Given the description of an element on the screen output the (x, y) to click on. 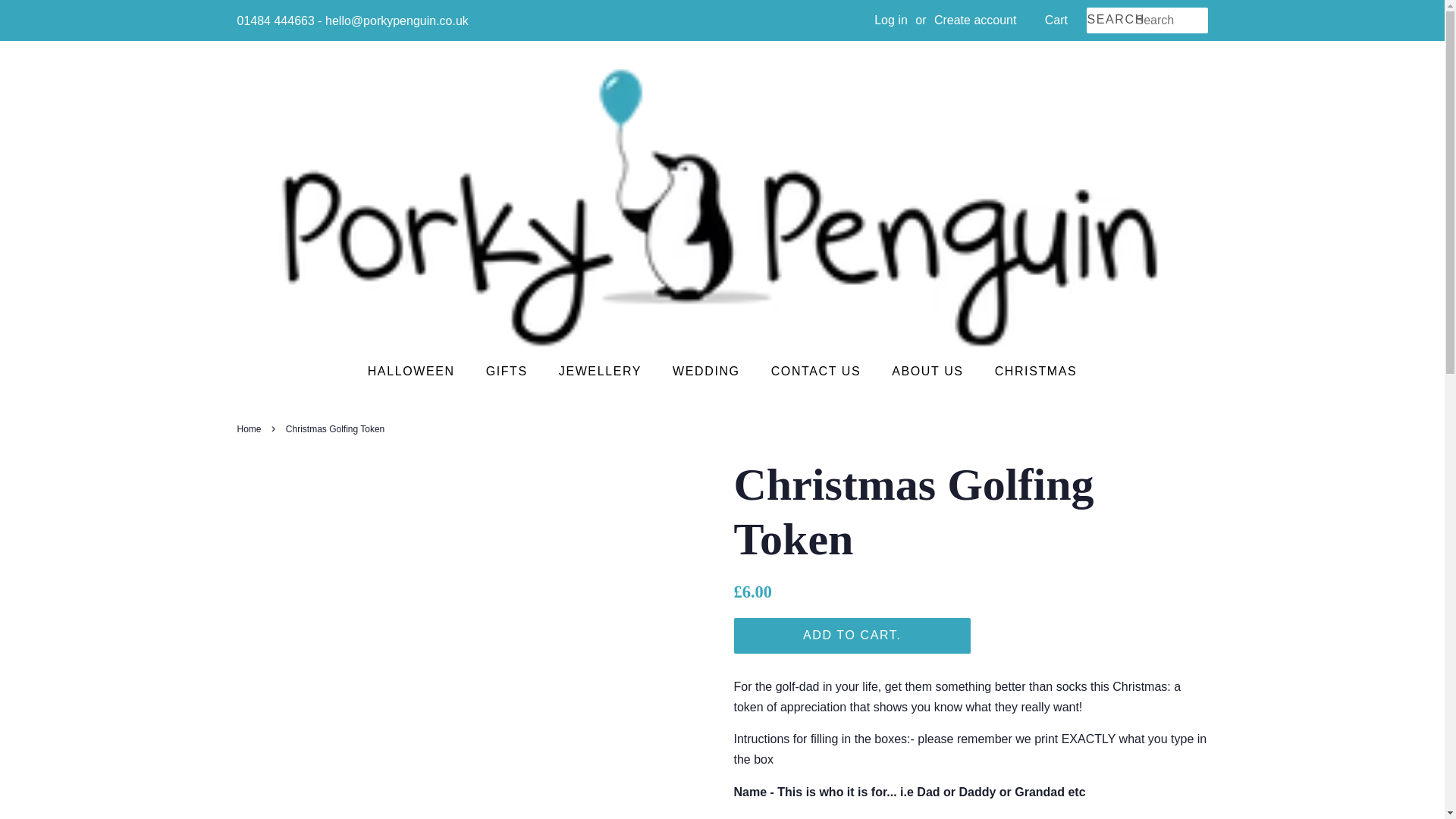
SEARCH (1110, 19)
Create account (975, 19)
Back to the frontpage (249, 429)
Cart (1056, 19)
JEWELLERY (601, 370)
GIFTS (508, 370)
HALLOWEEN (419, 370)
Log in (891, 19)
